Given the description of an element on the screen output the (x, y) to click on. 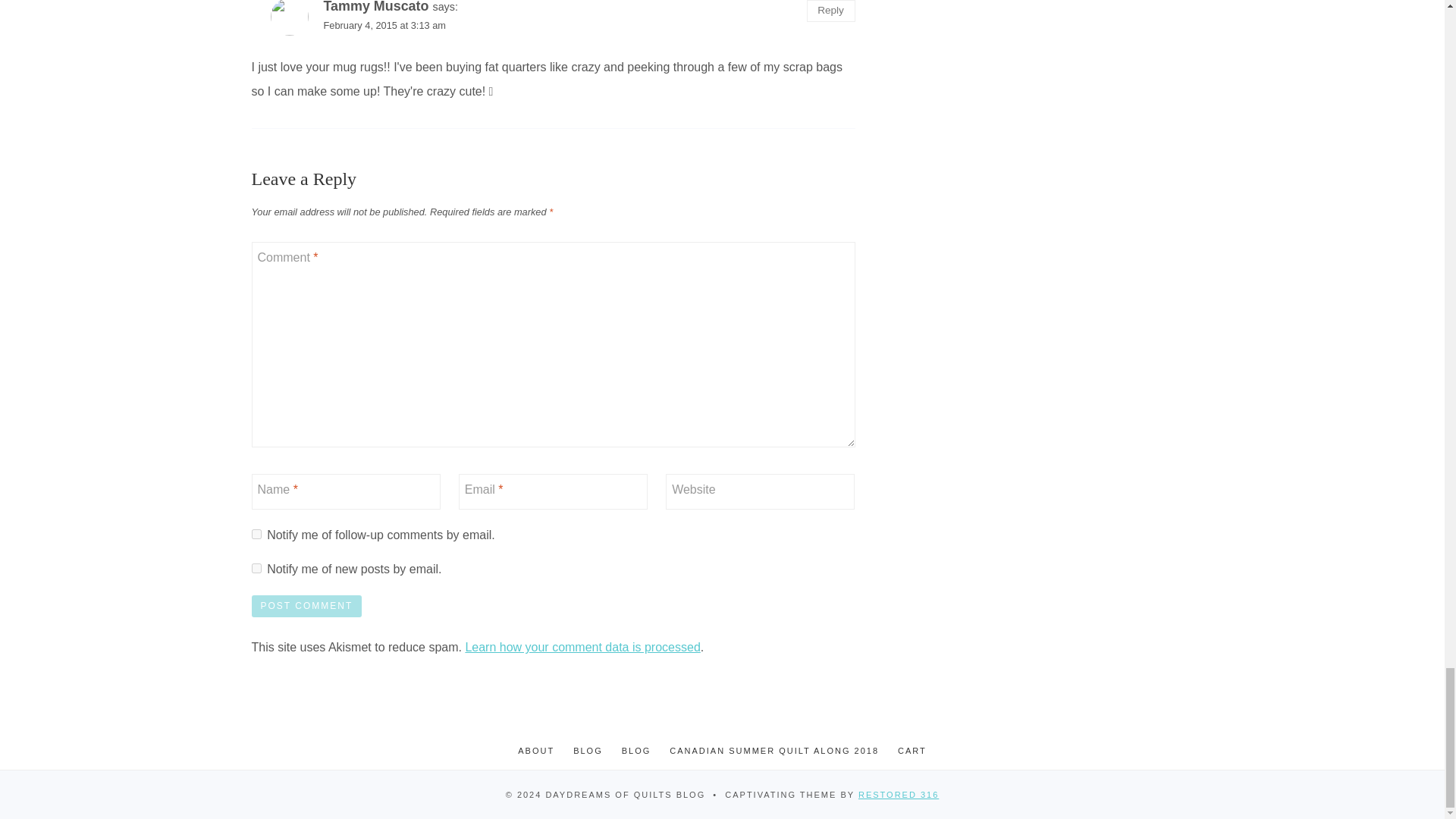
subscribe (256, 533)
Reply (831, 11)
Tammy Muscato (375, 6)
subscribe (256, 568)
Post Comment (306, 606)
February 4, 2015 at 3:13 am (384, 25)
